Given the description of an element on the screen output the (x, y) to click on. 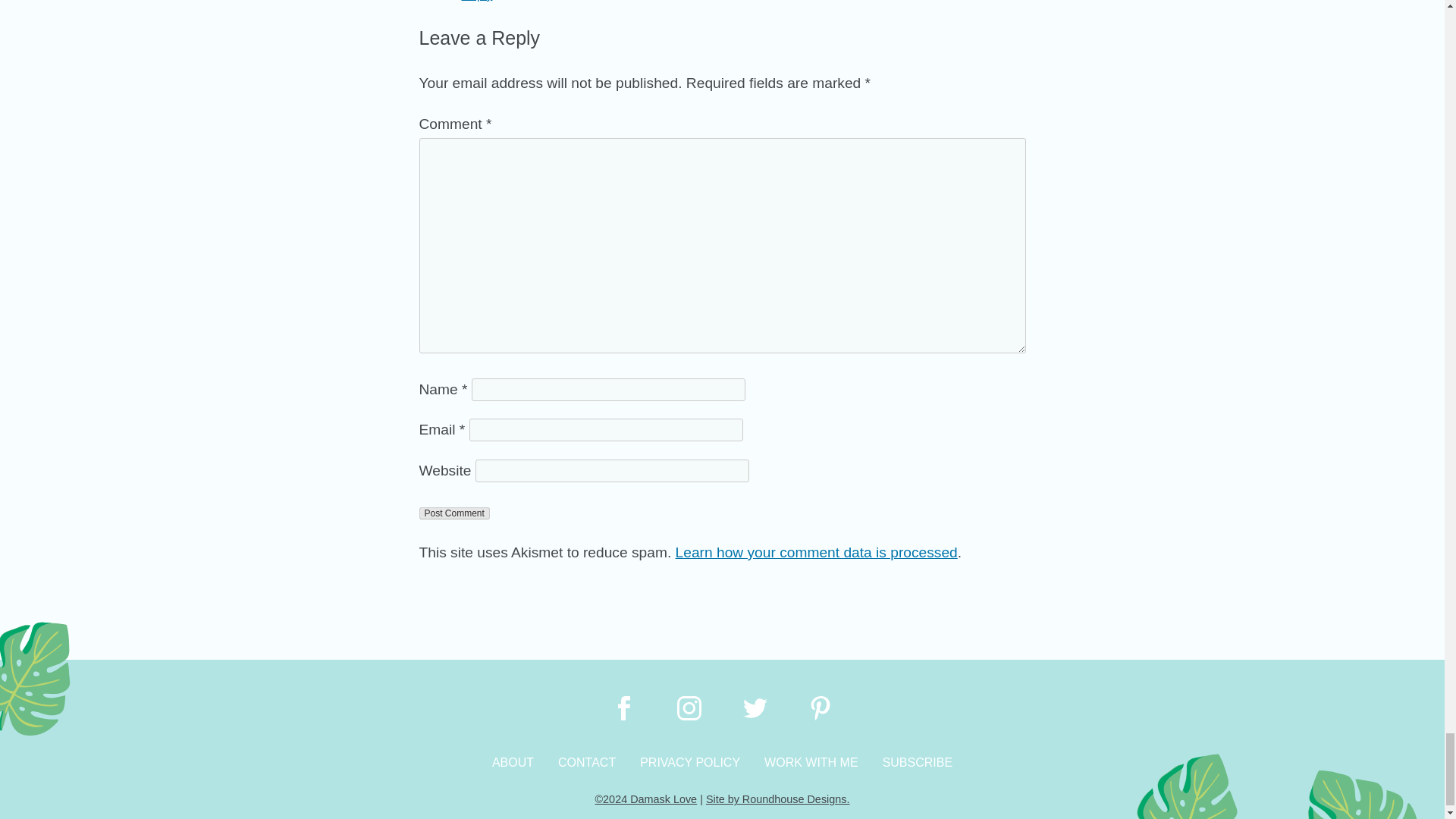
Post Comment (454, 512)
